Given the description of an element on the screen output the (x, y) to click on. 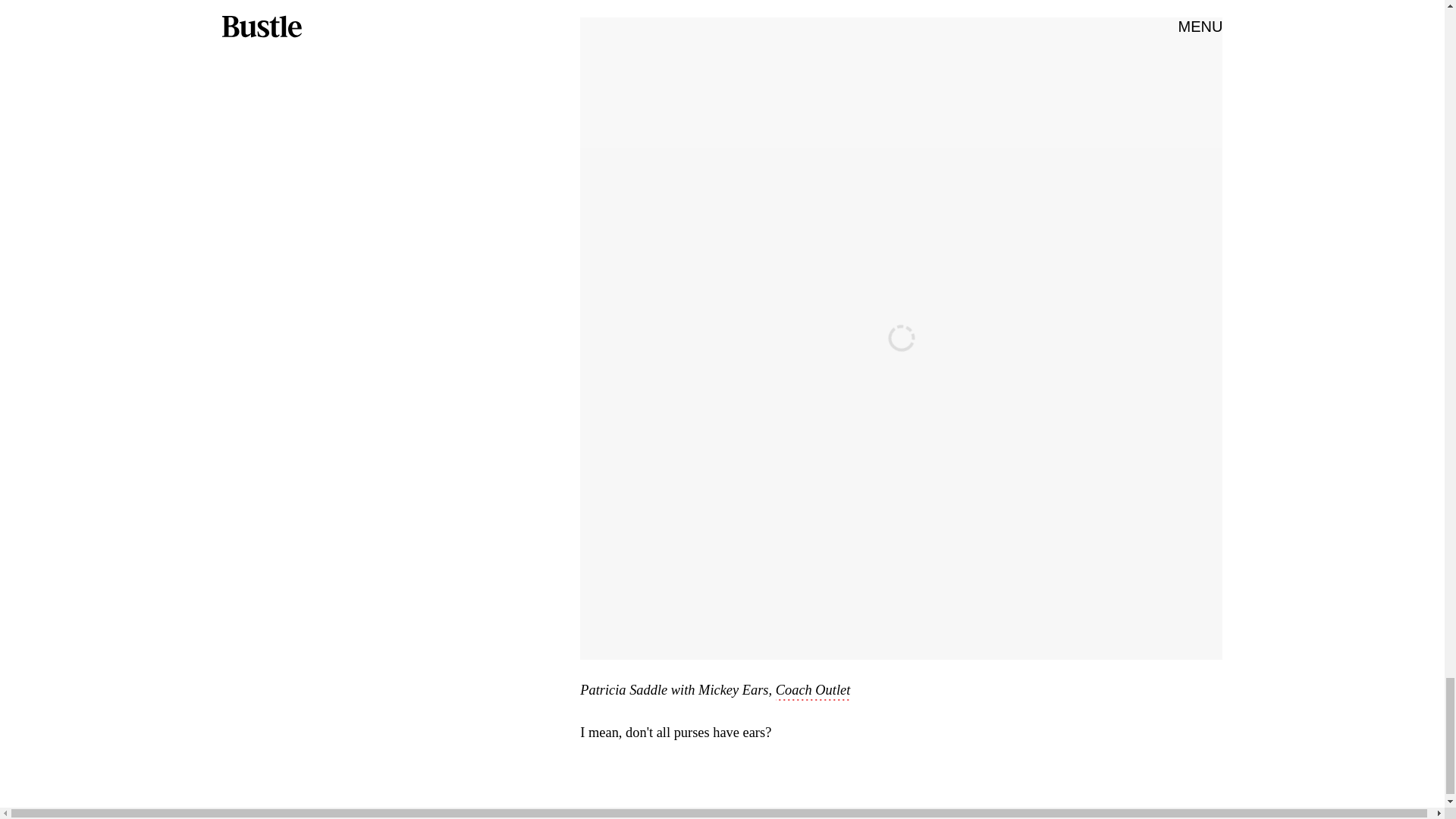
Coach Outlet (813, 691)
